Given the description of an element on the screen output the (x, y) to click on. 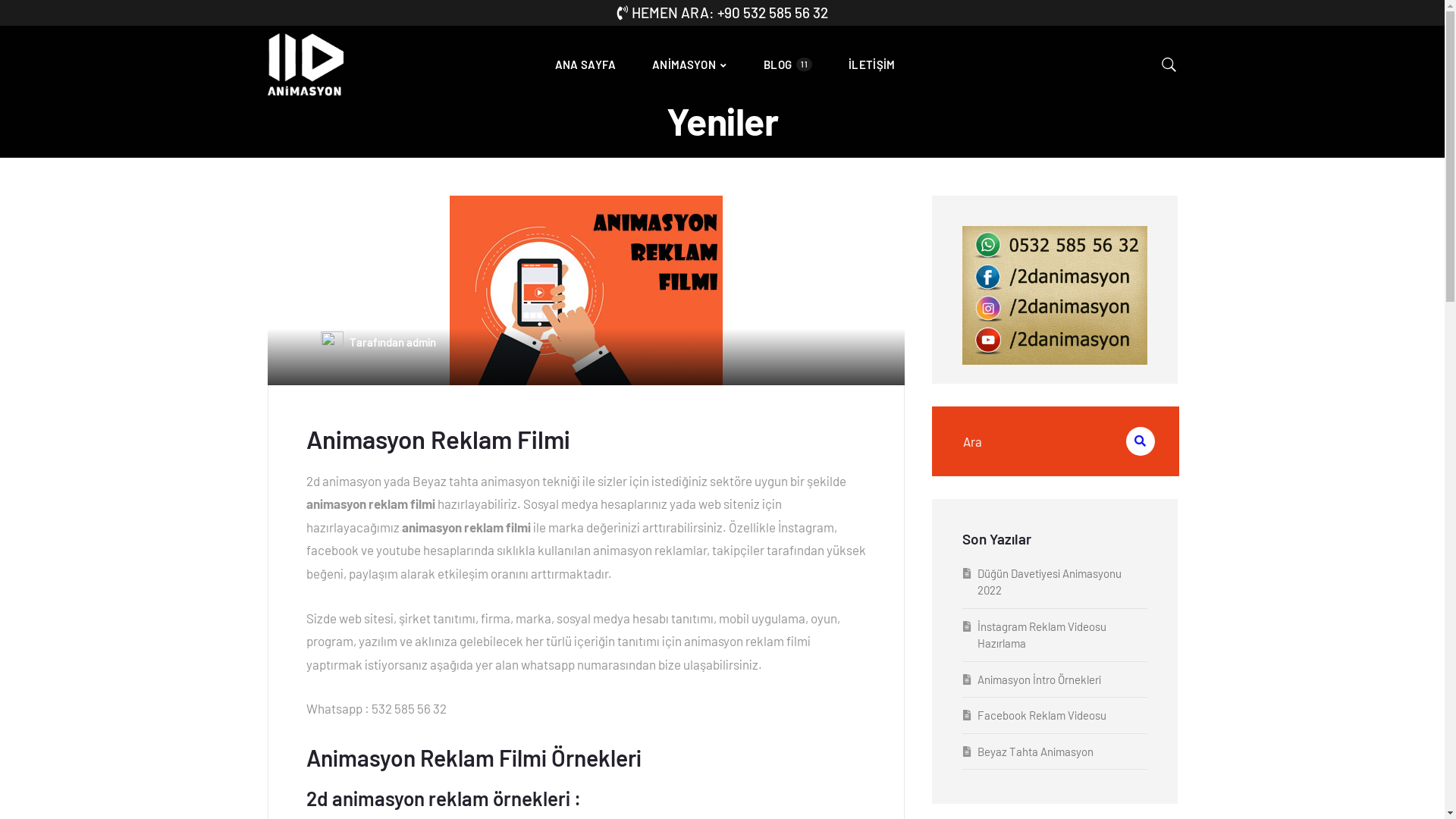
ANA SAYFA Element type: text (584, 64)
Facebook Reklam Videosu Element type: text (1040, 714)
Beyaz Tahta Animasyon Element type: text (1034, 751)
ANIMASYON Element type: text (689, 64)
HEMEN ARA: +90 532 585 56 32 Element type: text (722, 12)
BLOG11 Element type: text (787, 64)
